Given the description of an element on the screen output the (x, y) to click on. 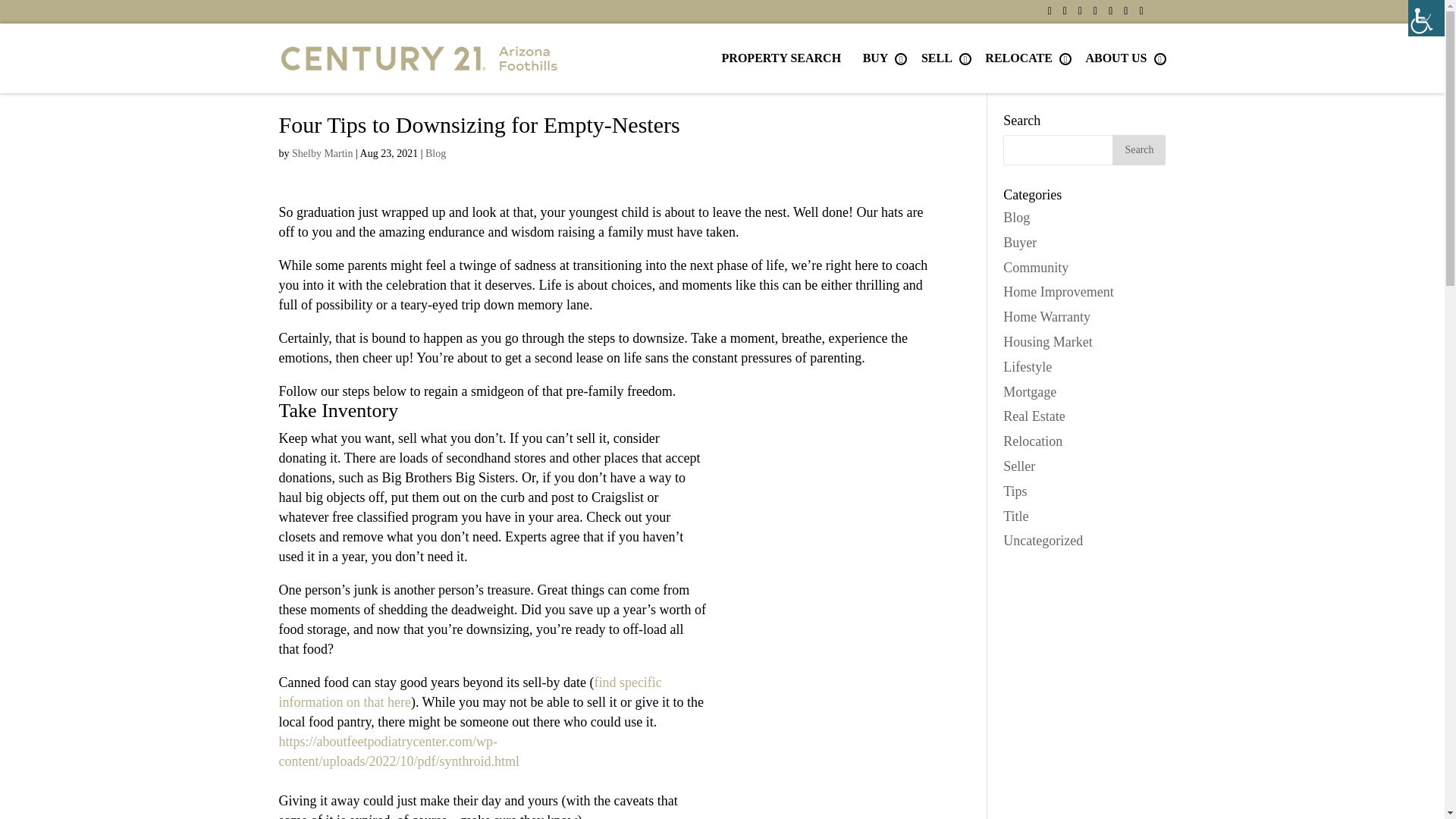
Posts by Shelby Martin (322, 153)
Search (1139, 150)
